Given the description of an element on the screen output the (x, y) to click on. 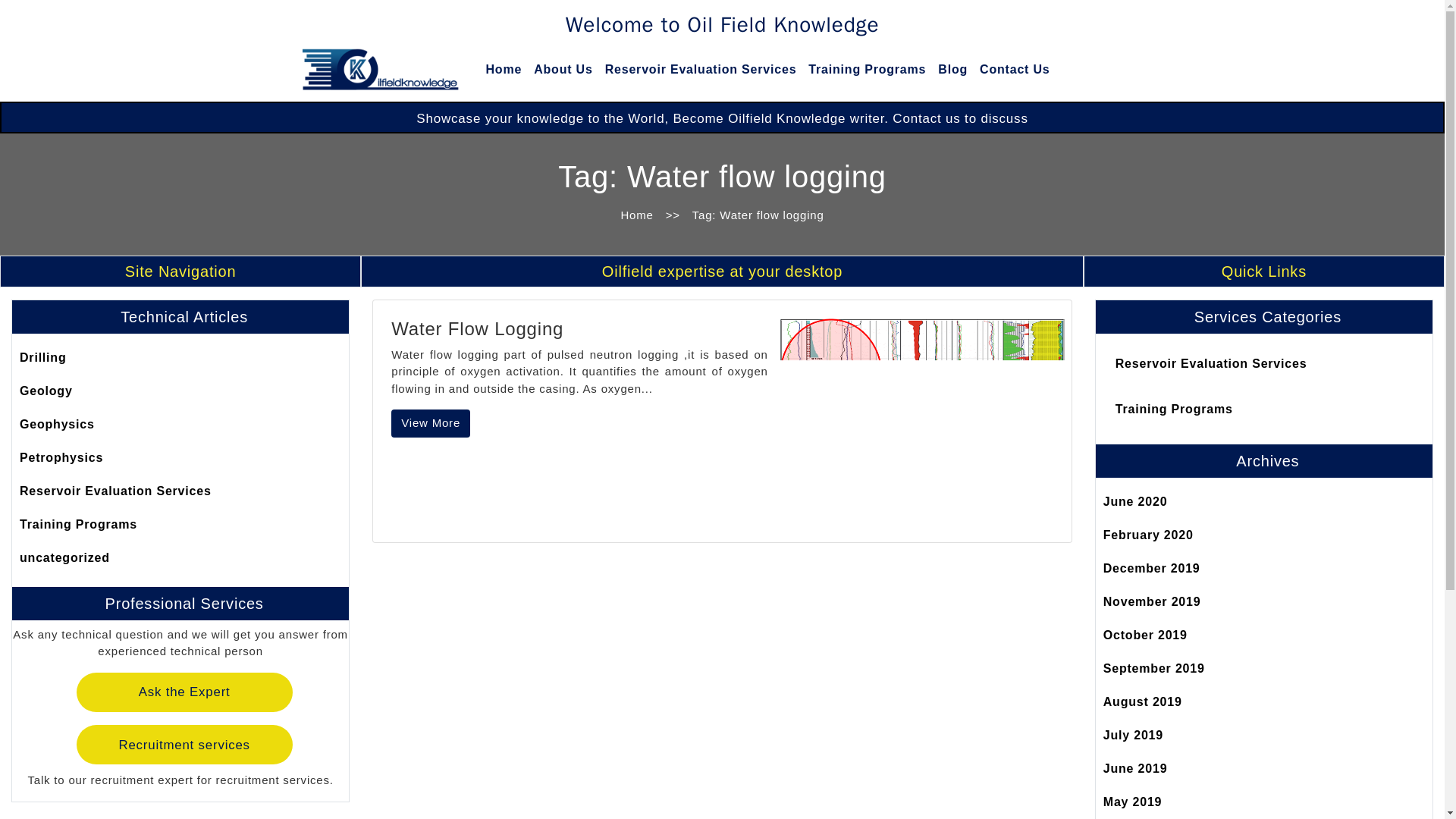
Reservoir Evaluation Services (1264, 363)
June 2019 (1264, 768)
Drilling (180, 357)
July 2019 (1264, 735)
Reservoir Evaluation Services (700, 69)
September 2019 (1264, 668)
May 2019 (1264, 802)
June 2020 (1264, 501)
Home (636, 215)
Recruitment services (184, 744)
Training Programs (180, 524)
uncategorized (180, 557)
About Us (563, 69)
Tag: Water flow logging (757, 215)
View More (430, 423)
